Given the description of an element on the screen output the (x, y) to click on. 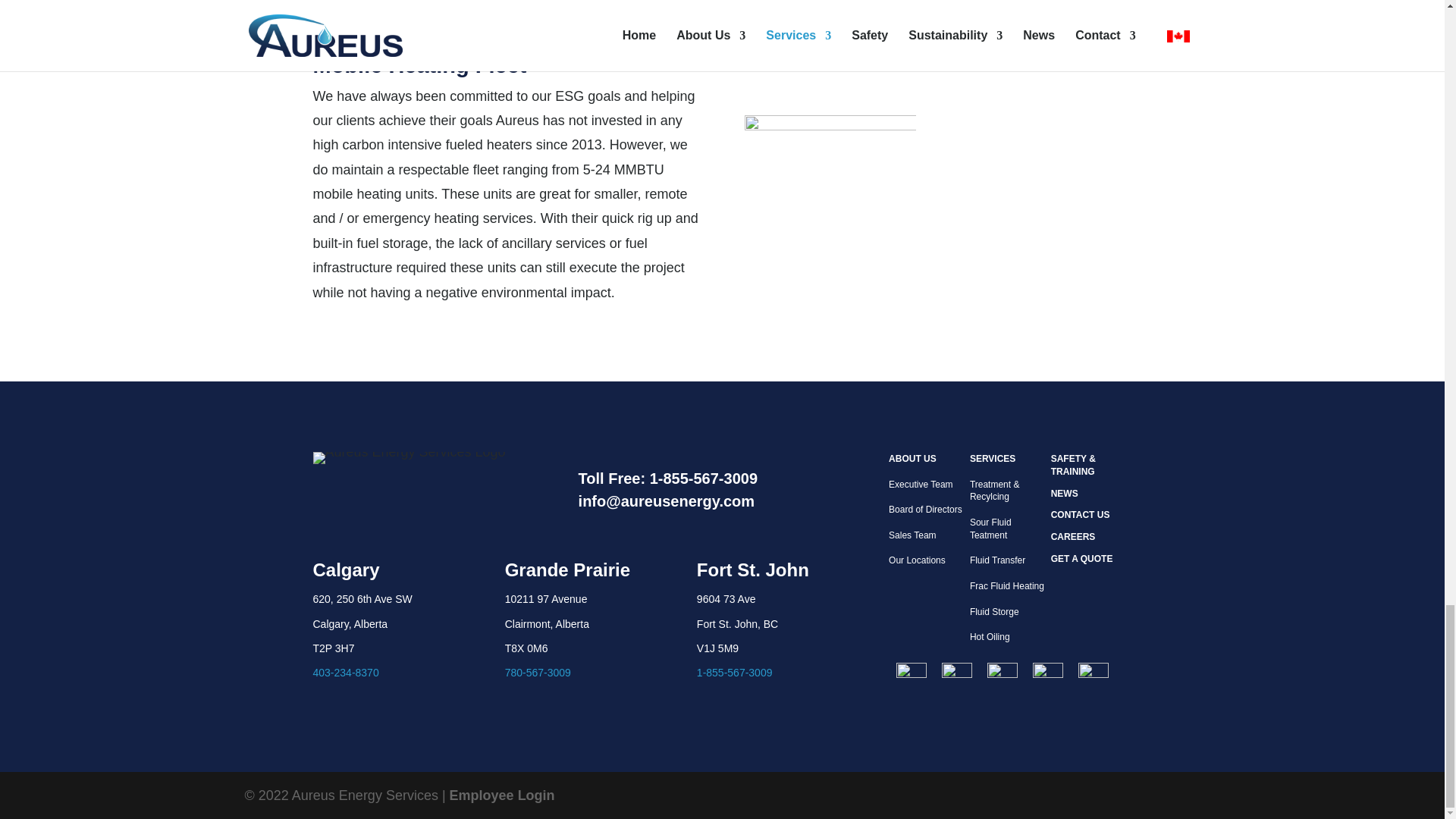
logo-avetta (911, 672)
logo-cor (1002, 672)
Canada Third subsection heating - picture 1 (829, 179)
logo-niosh (1093, 672)
Aureus Energy Services Logo (409, 458)
logo-complyworks (957, 672)
logo-isn (1047, 672)
